Given the description of an element on the screen output the (x, y) to click on. 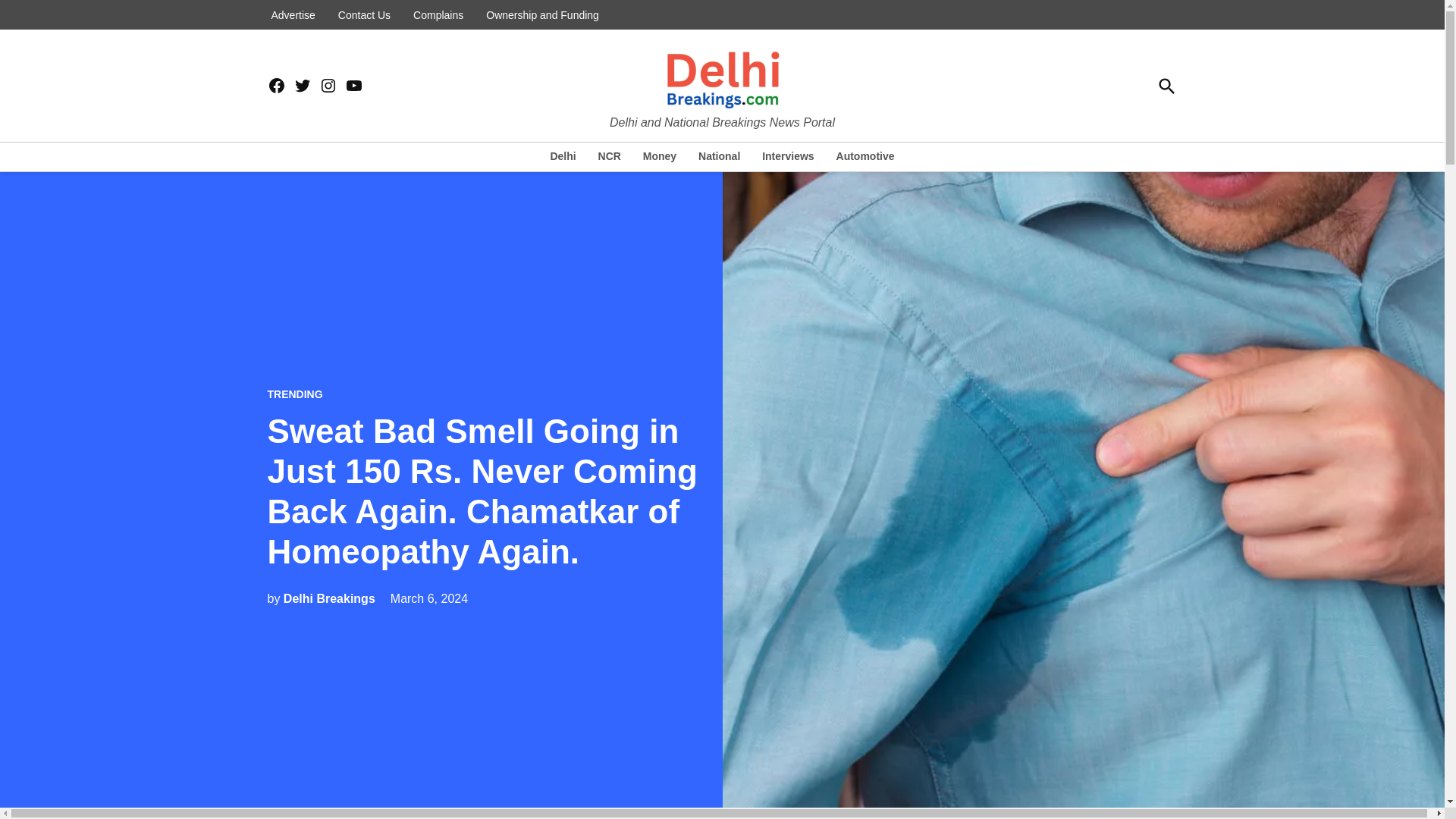
Open Search (1166, 85)
NCR (609, 156)
DelhiBreakings.com (746, 121)
Complains (438, 14)
Instagram (327, 85)
Contact Us (364, 14)
Automotive (861, 156)
Interviews (787, 156)
Ownership and Funding (541, 14)
Money (659, 156)
TRENDING (293, 394)
Facebook Page (275, 85)
Delhi (566, 156)
National (719, 156)
Youtube (352, 85)
